Given the description of an element on the screen output the (x, y) to click on. 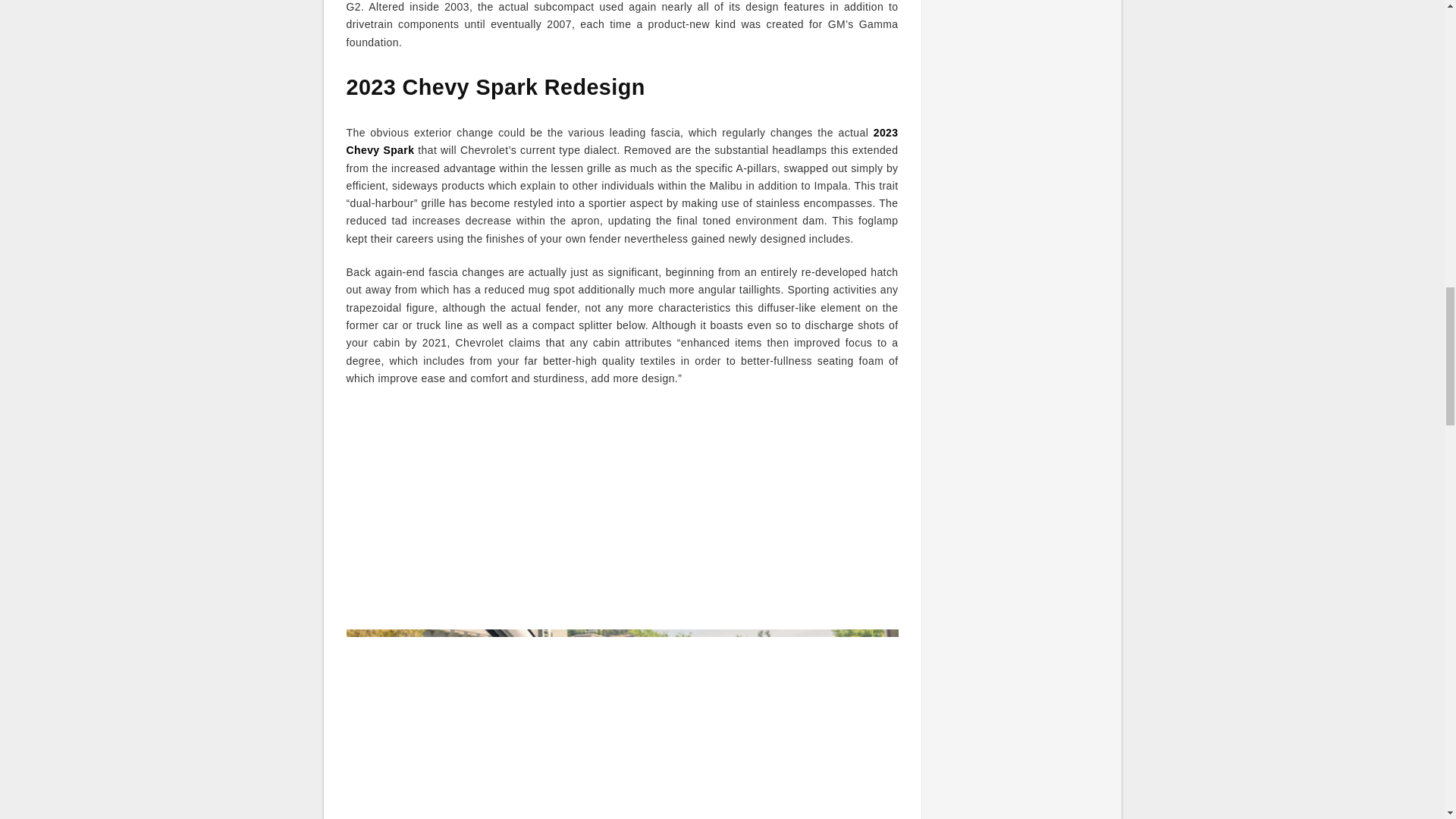
2023 Chevy Spark (622, 141)
Advertisement (622, 509)
